Given the description of an element on the screen output the (x, y) to click on. 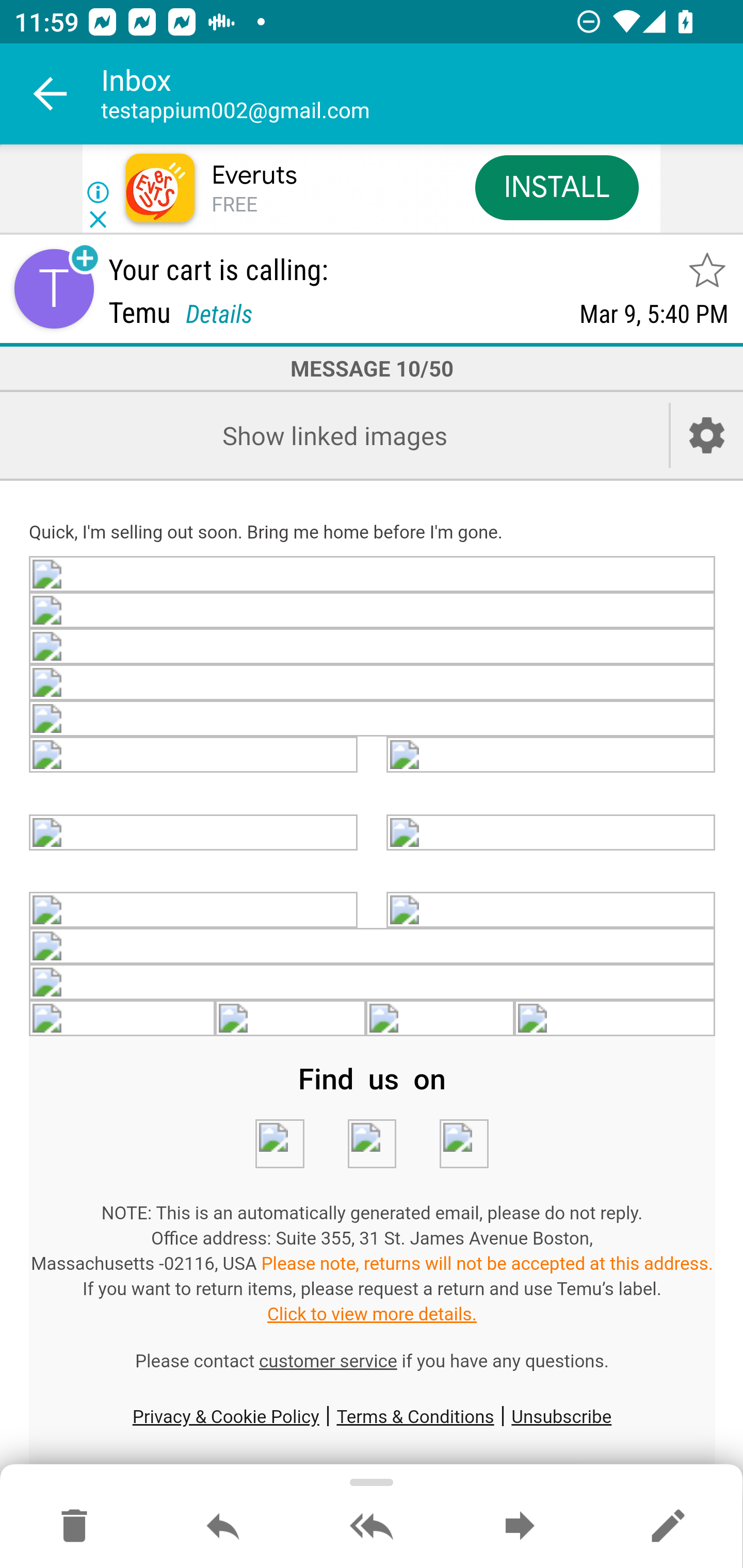
Navigate up (50, 93)
Inbox testappium002@gmail.com (422, 93)
INSTALL (556, 187)
Everuts (253, 175)
Sender contact button (53, 289)
Show linked images (334, 435)
Account setup (706, 435)
data: (372, 575)
data: (372, 611)
data: (372, 647)
data: (372, 682)
data: (372, 718)
data: (193, 754)
data: (551, 754)
data: (193, 831)
data: (551, 831)
data: (193, 910)
data: (551, 910)
data: (372, 946)
data: (372, 982)
data: (122, 1019)
data: (289, 1019)
data: (440, 1019)
data: (614, 1019)
data: (279, 1144)
data: (371, 1144)
data: (463, 1144)
Click to view more details. (372, 1313)
customer service (327, 1361)
Privacy & Cookie Policy (225, 1416)
Terms & Conditions (414, 1416)
Unsubscribe (561, 1416)
Move to Deleted (74, 1527)
Reply (222, 1527)
Reply all (371, 1527)
Forward (519, 1527)
Reply as new (667, 1527)
